Given the description of an element on the screen output the (x, y) to click on. 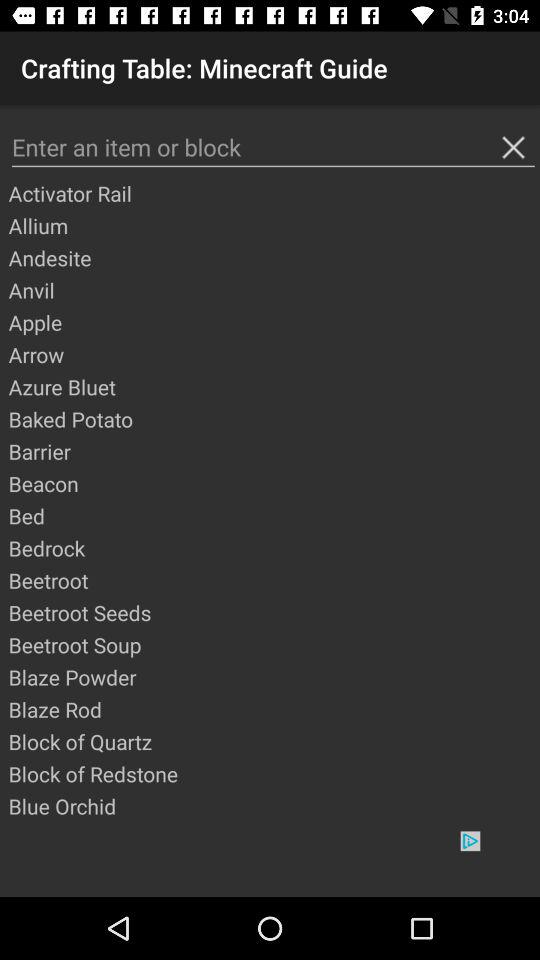
turn on icon above the bed item (273, 483)
